Given the description of an element on the screen output the (x, y) to click on. 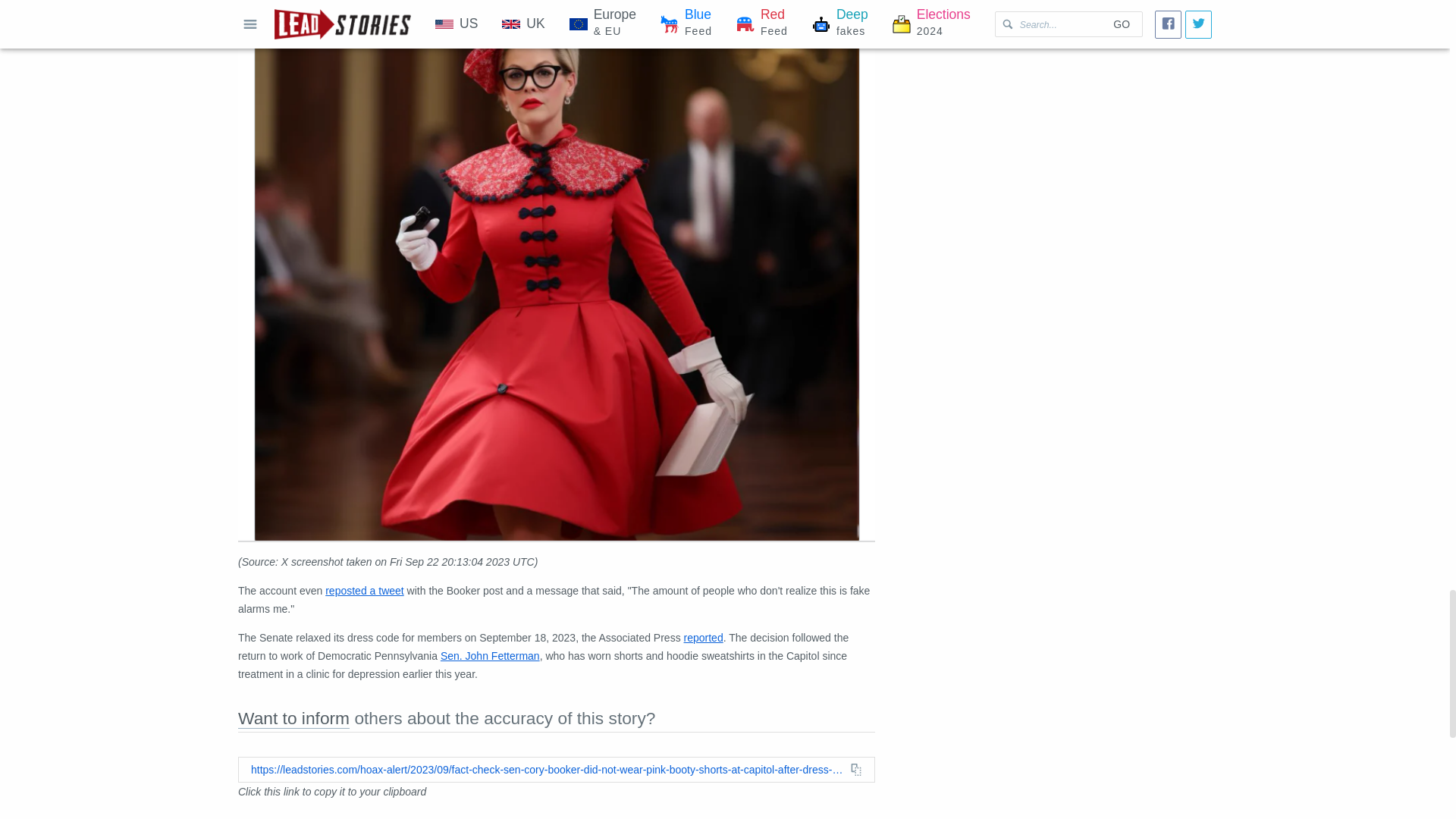
Sen. John Fetterman (490, 655)
reposted a tweet (364, 590)
reported (703, 637)
